Given the description of an element on the screen output the (x, y) to click on. 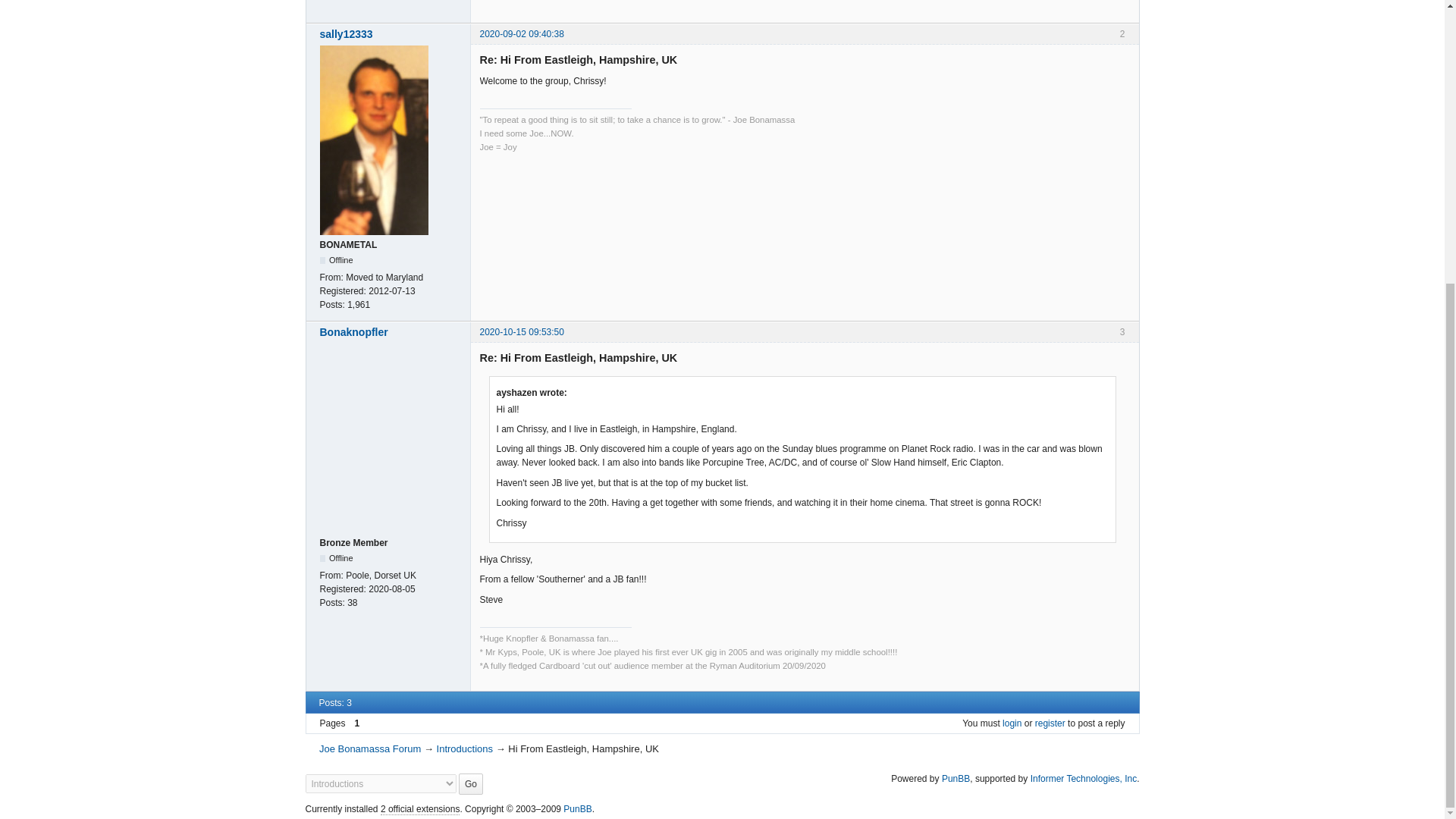
Permanent link to this post (521, 331)
Bonaknopfler (390, 332)
register (1050, 723)
Go to Bonaknopfler's profile (390, 332)
PunBB (955, 778)
2020-09-02 09:40:38 (521, 33)
Go (470, 783)
sally12333 (390, 33)
Go to sally12333's profile (390, 33)
Joe Bonamassa Forum (369, 748)
